Given the description of an element on the screen output the (x, y) to click on. 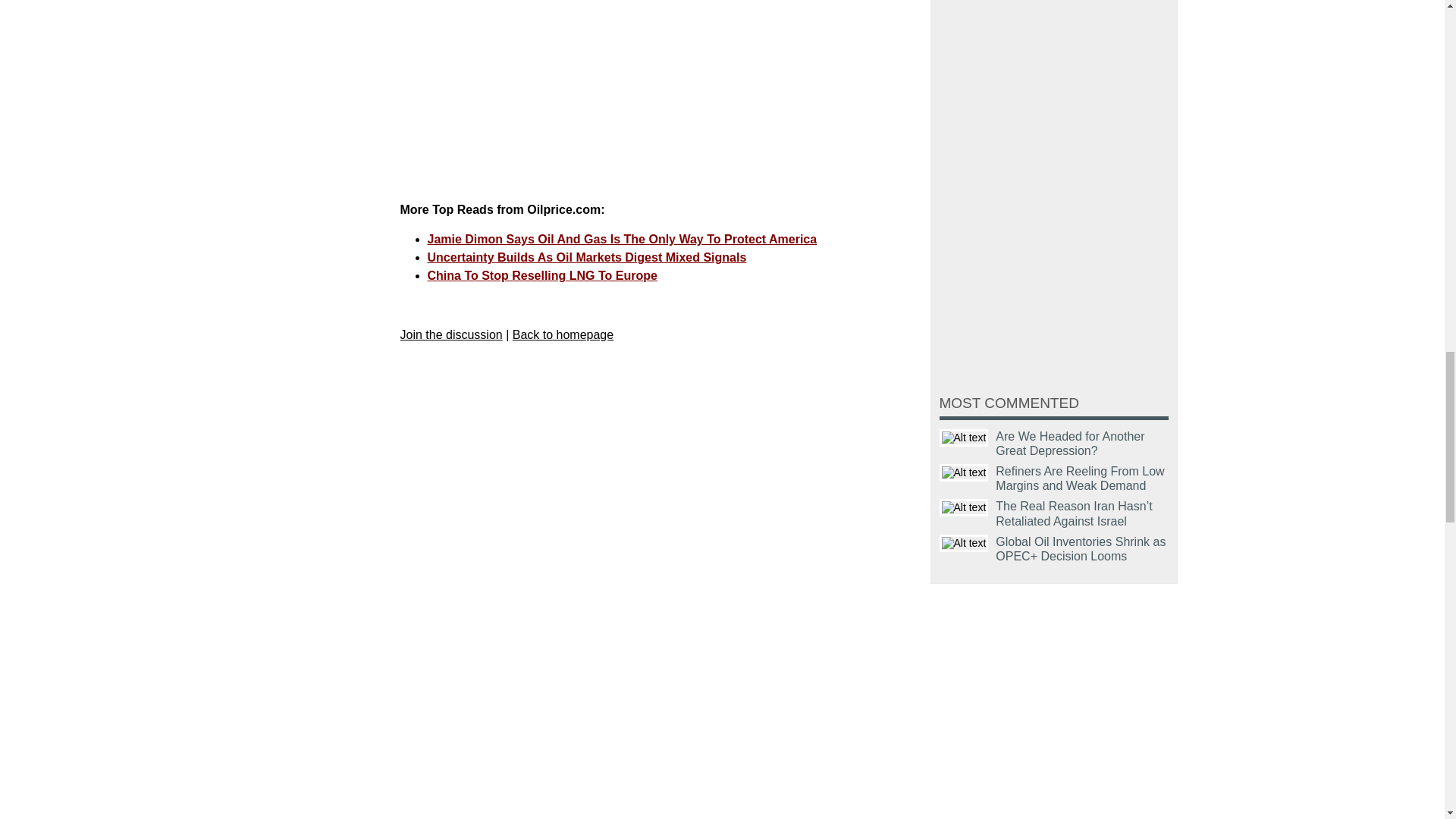
Title text (963, 507)
Title text (963, 437)
Title text (963, 543)
Title text (963, 472)
